Given the description of an element on the screen output the (x, y) to click on. 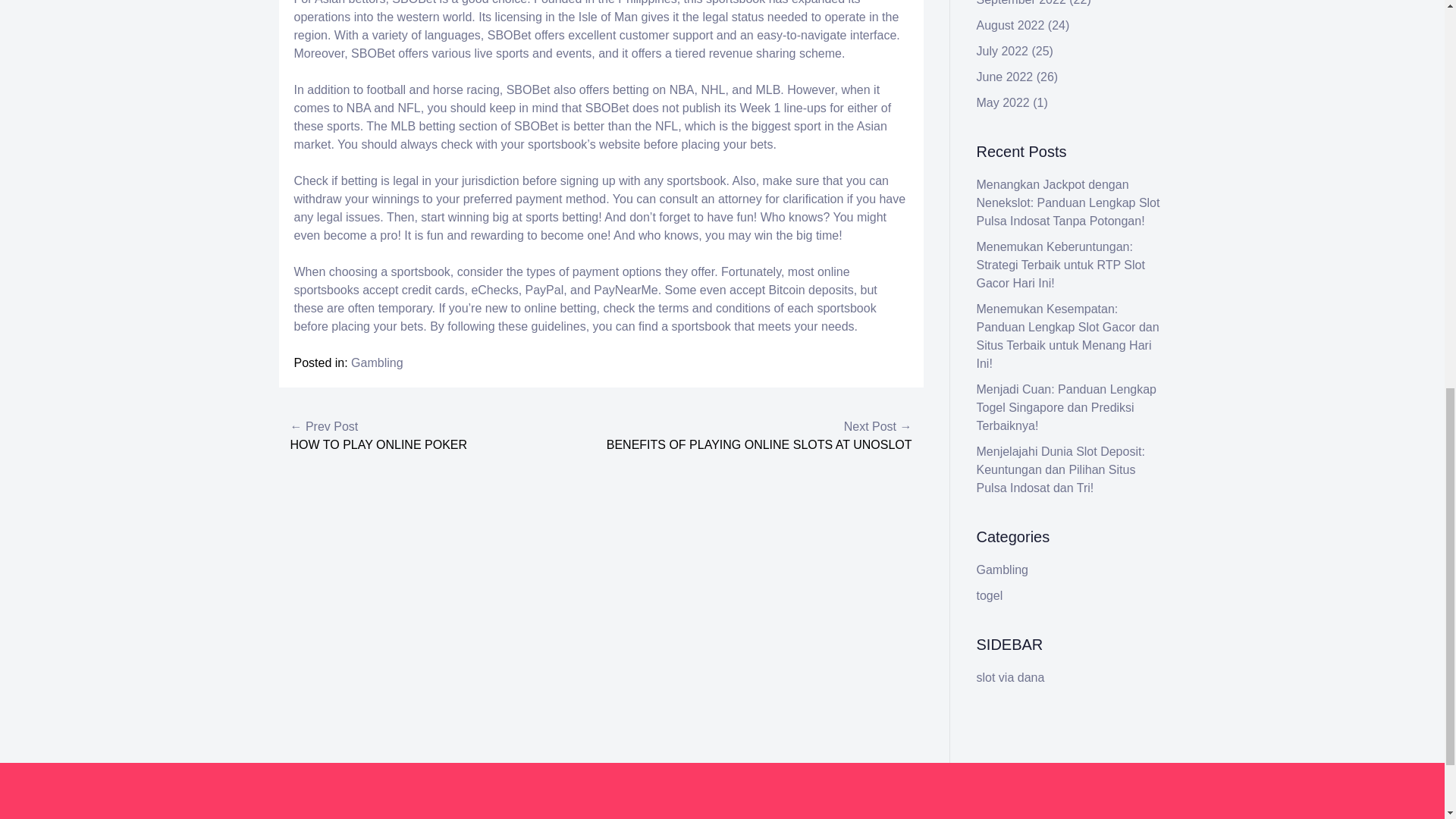
August 2022 (1010, 24)
September 2022 (1020, 2)
July 2022 (1002, 51)
May 2022 (1002, 102)
June 2022 (1004, 76)
Gambling (376, 362)
